Given the description of an element on the screen output the (x, y) to click on. 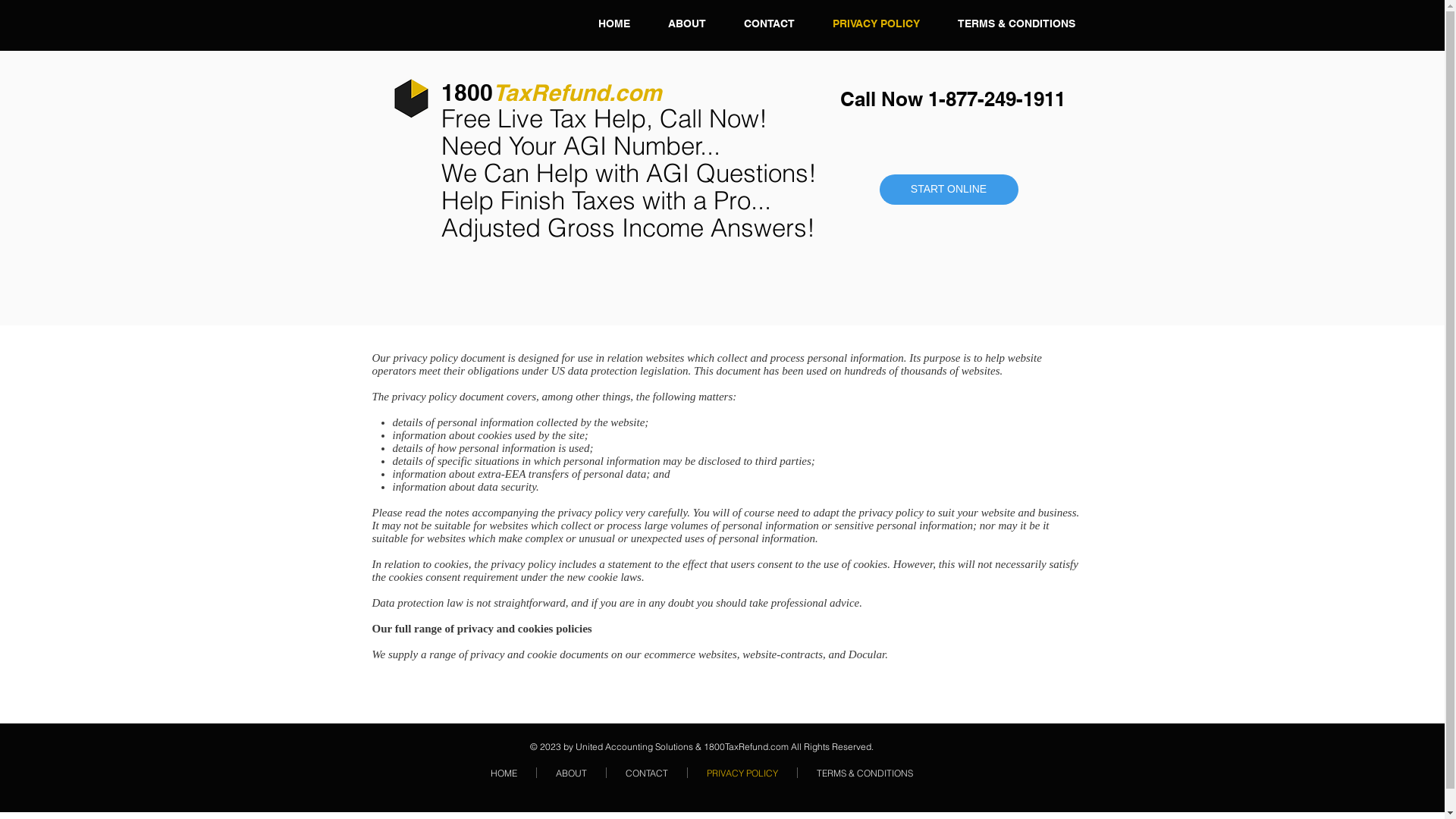
ABOUT Element type: text (686, 24)
CONTACT Element type: text (646, 772)
HOME Element type: text (614, 24)
CONTACT Element type: text (768, 24)
START ONLINE Element type: text (948, 189)
1800TaxRefund.com Element type: text (551, 94)
HOME Element type: text (503, 772)
Free Live Tax Help, Call Now! Element type: text (604, 120)
ABOUT Element type: text (570, 772)
TERMS & CONDITIONS Element type: text (864, 772)
PRIVACY POLICY Element type: text (875, 24)
PRIVACY POLICY Element type: text (742, 772)
TERMS & CONDITIONS Element type: text (1016, 24)
